Given the description of an element on the screen output the (x, y) to click on. 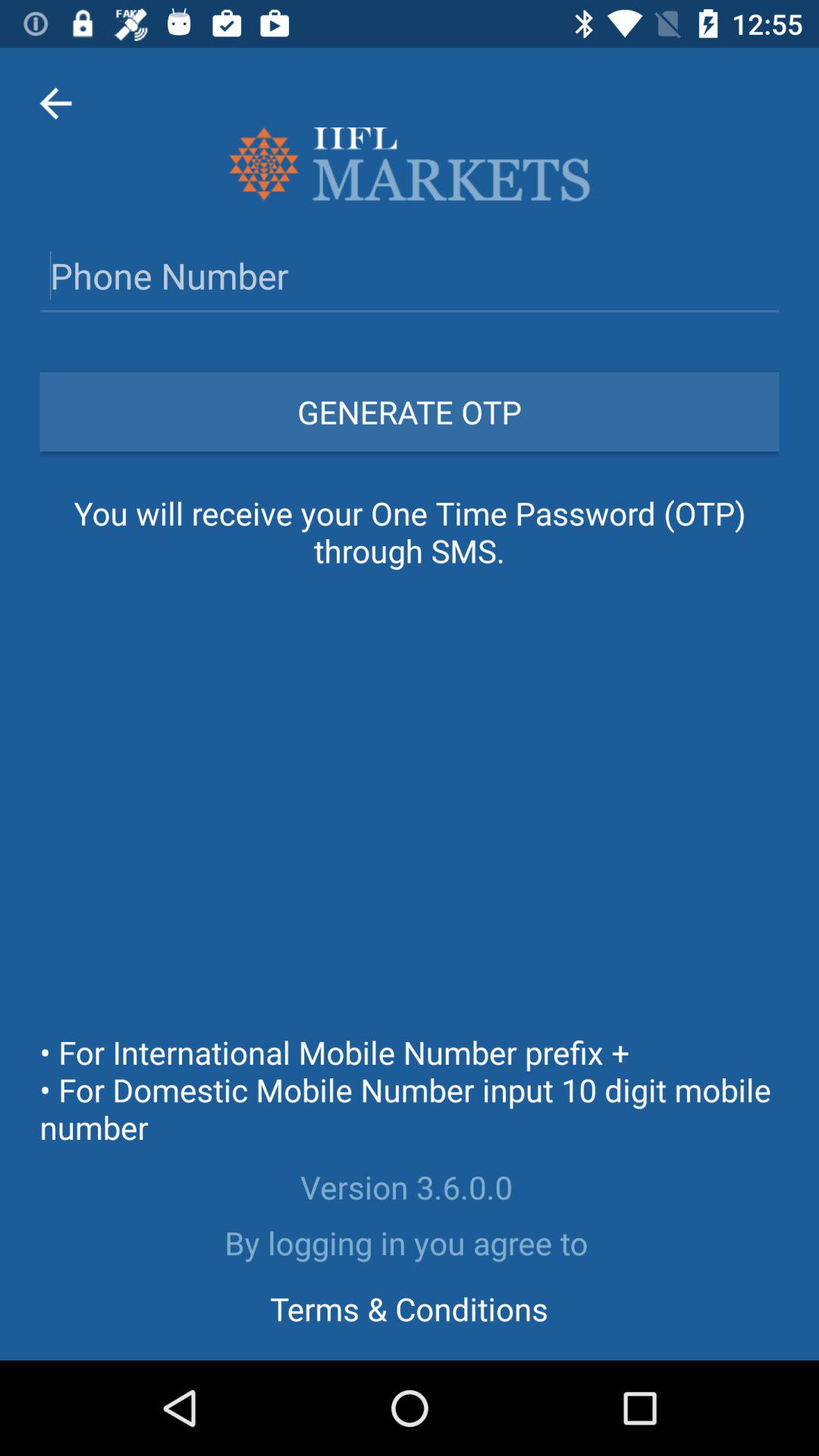
select the version 3 6 item (409, 1186)
